Given the description of an element on the screen output the (x, y) to click on. 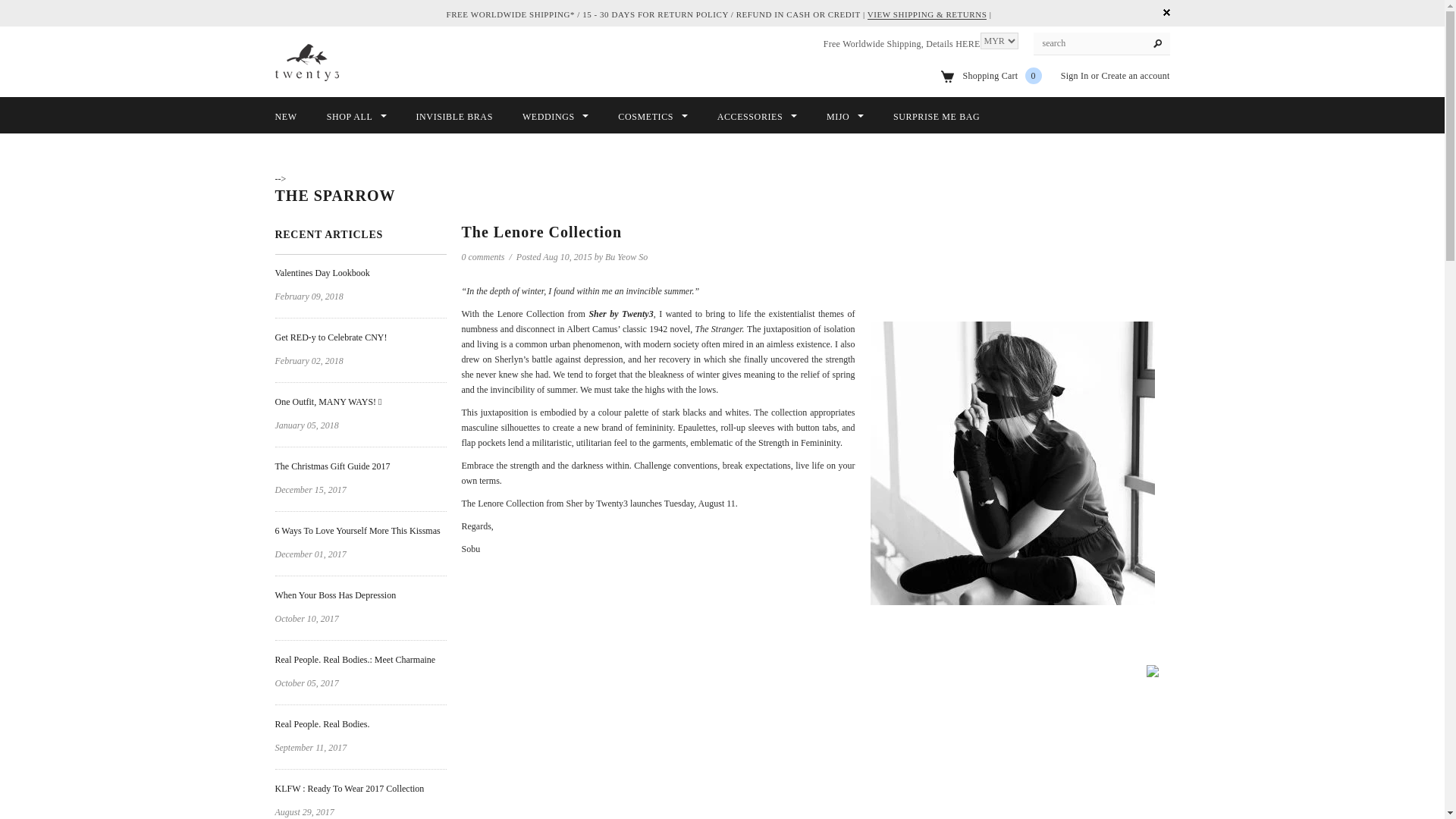
Create an account (1134, 75)
Shopping Cart 0 (1002, 75)
Search (1158, 43)
Sign In (1075, 75)
SHOP ALL (356, 116)
INVISIBLE BRAS (453, 116)
CLOSE (1166, 12)
Search (1158, 43)
NEW (286, 116)
